Given the description of an element on the screen output the (x, y) to click on. 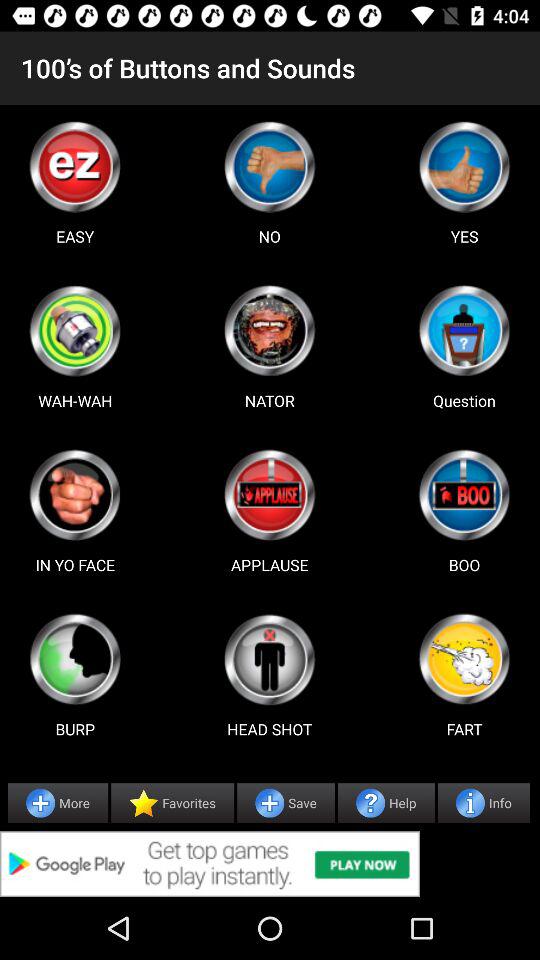
use easy button (75, 166)
